Given the description of an element on the screen output the (x, y) to click on. 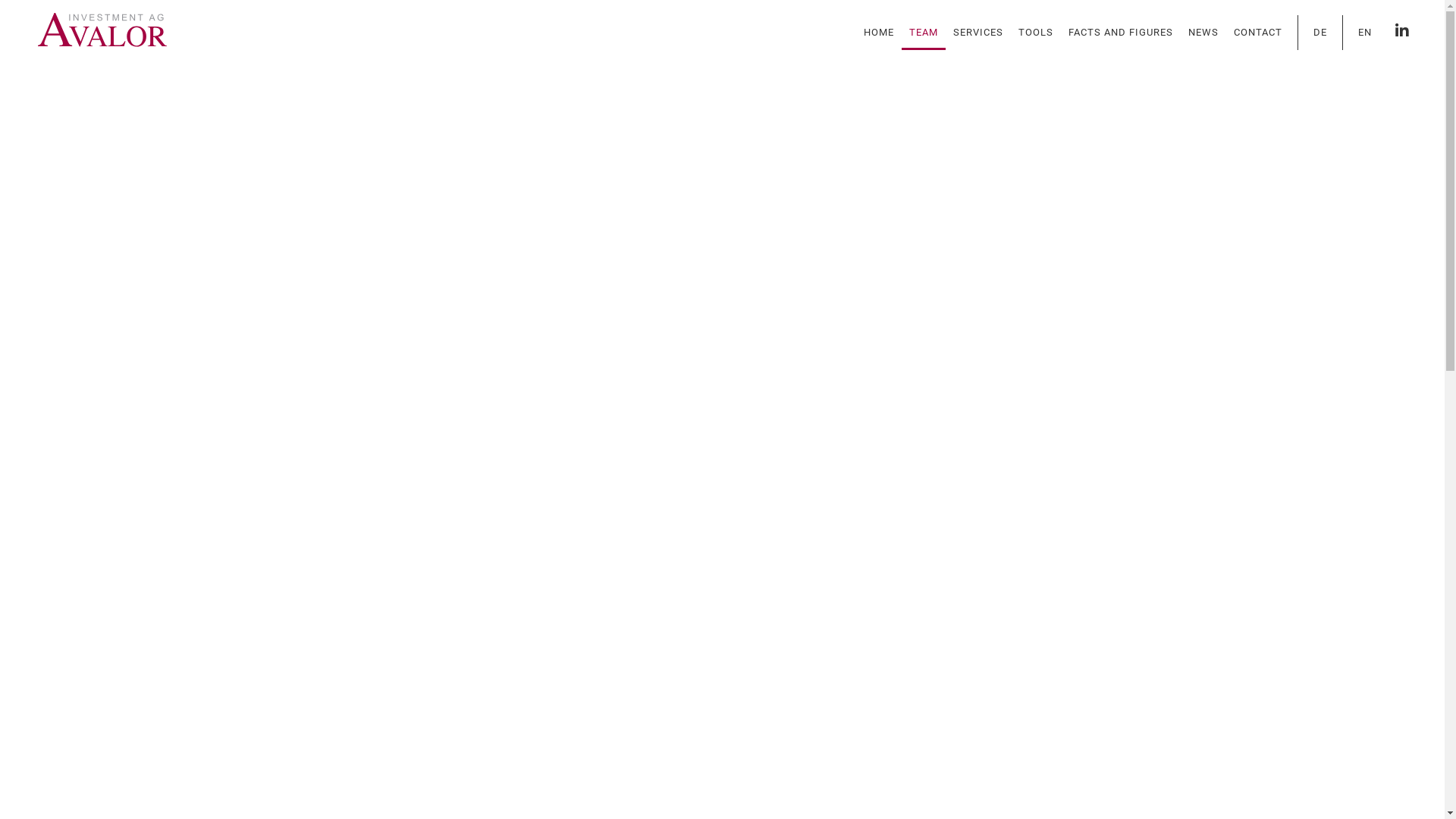
TOOLS Element type: text (1035, 32)
FACTS AND FIGURES Element type: text (1120, 32)
CONTACT Element type: text (1257, 32)
DE Element type: text (1319, 32)
NEWS Element type: text (1203, 32)
SERVICES Element type: text (977, 32)
HOME Element type: text (878, 32)
EN Element type: text (1364, 32)
TEAM Element type: text (923, 32)
